Given the description of an element on the screen output the (x, y) to click on. 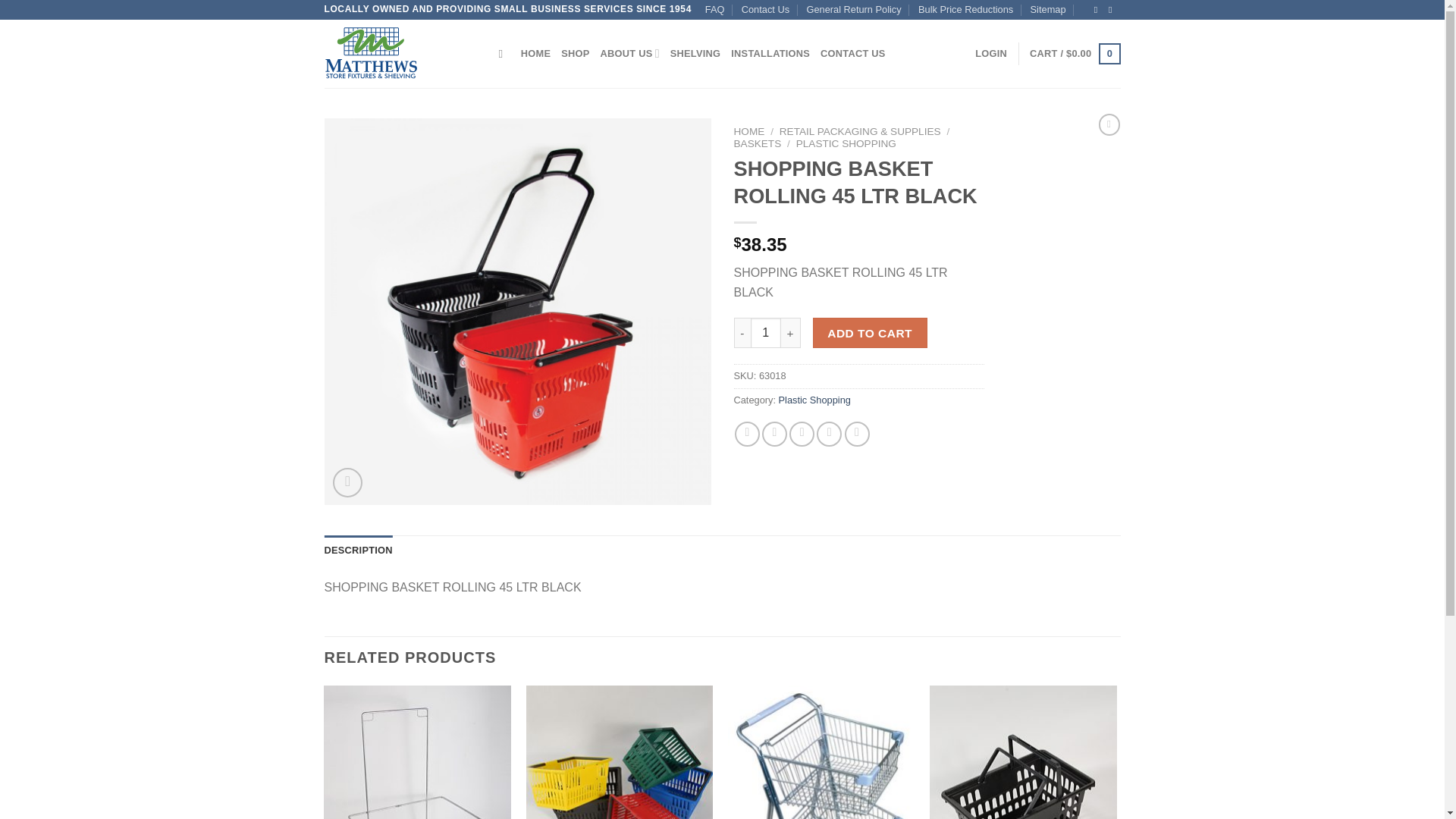
ABOUT US (629, 53)
PLASTIC SHOPPING (846, 143)
1 (765, 332)
Plastic Shopping (814, 399)
Share on Facebook (747, 433)
ADD TO CART (869, 332)
Contact Us (765, 9)
HOME (535, 53)
Cart (1074, 53)
Bulk Price Reductions (965, 9)
Login (991, 53)
Share on Twitter (774, 433)
Zoom (347, 482)
INSTALLATIONS (769, 53)
BASKETS (757, 143)
